Given the description of an element on the screen output the (x, y) to click on. 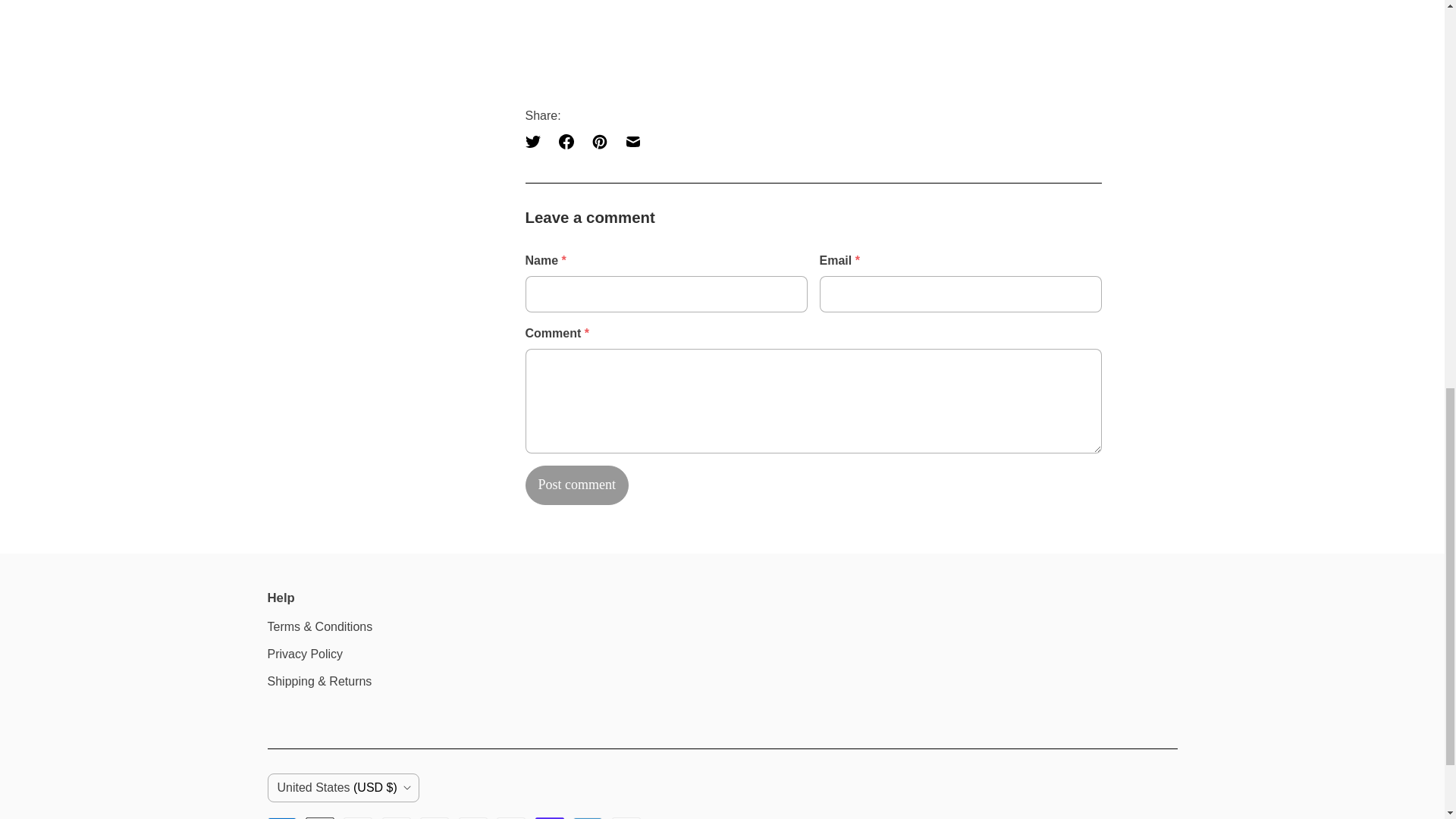
Share this on Facebook (565, 141)
American Express (280, 818)
Discover (395, 818)
Apple Pay (319, 818)
Visa (625, 818)
Diners Club (357, 818)
Email this to a friend (632, 141)
Mastercard (472, 818)
Venmo (587, 818)
PayPal (510, 818)
Share this on Pinterest (598, 141)
Shop Pay (549, 818)
Post comment (576, 485)
Meta Pay (434, 818)
